Given the description of an element on the screen output the (x, y) to click on. 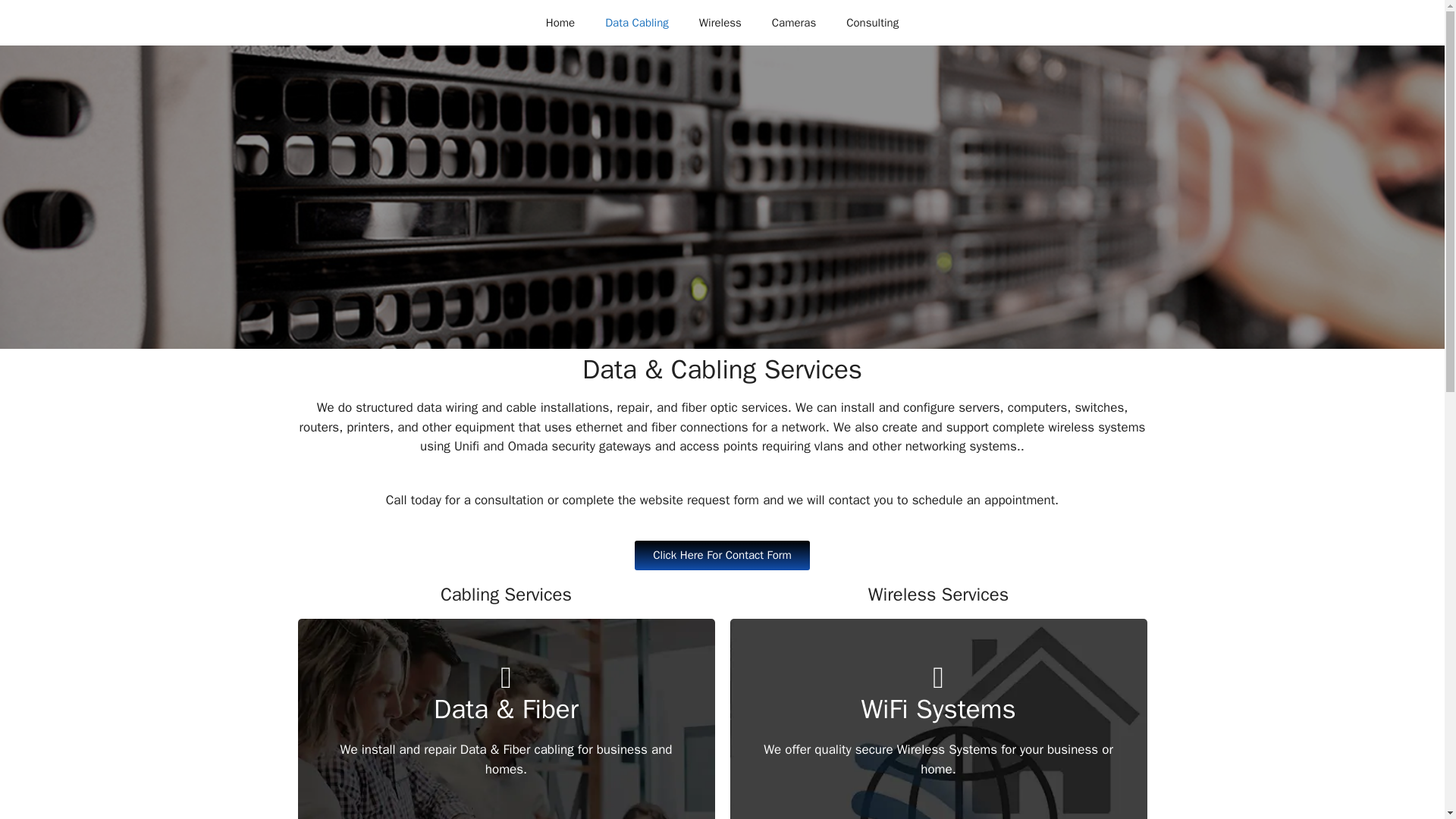
Data Cabling (636, 22)
Cameras (794, 22)
Consulting (872, 22)
Get Started (938, 788)
Wireless (720, 22)
Home (560, 22)
Click Here For Contact Form (721, 554)
Get Started (505, 798)
